Given the description of an element on the screen output the (x, y) to click on. 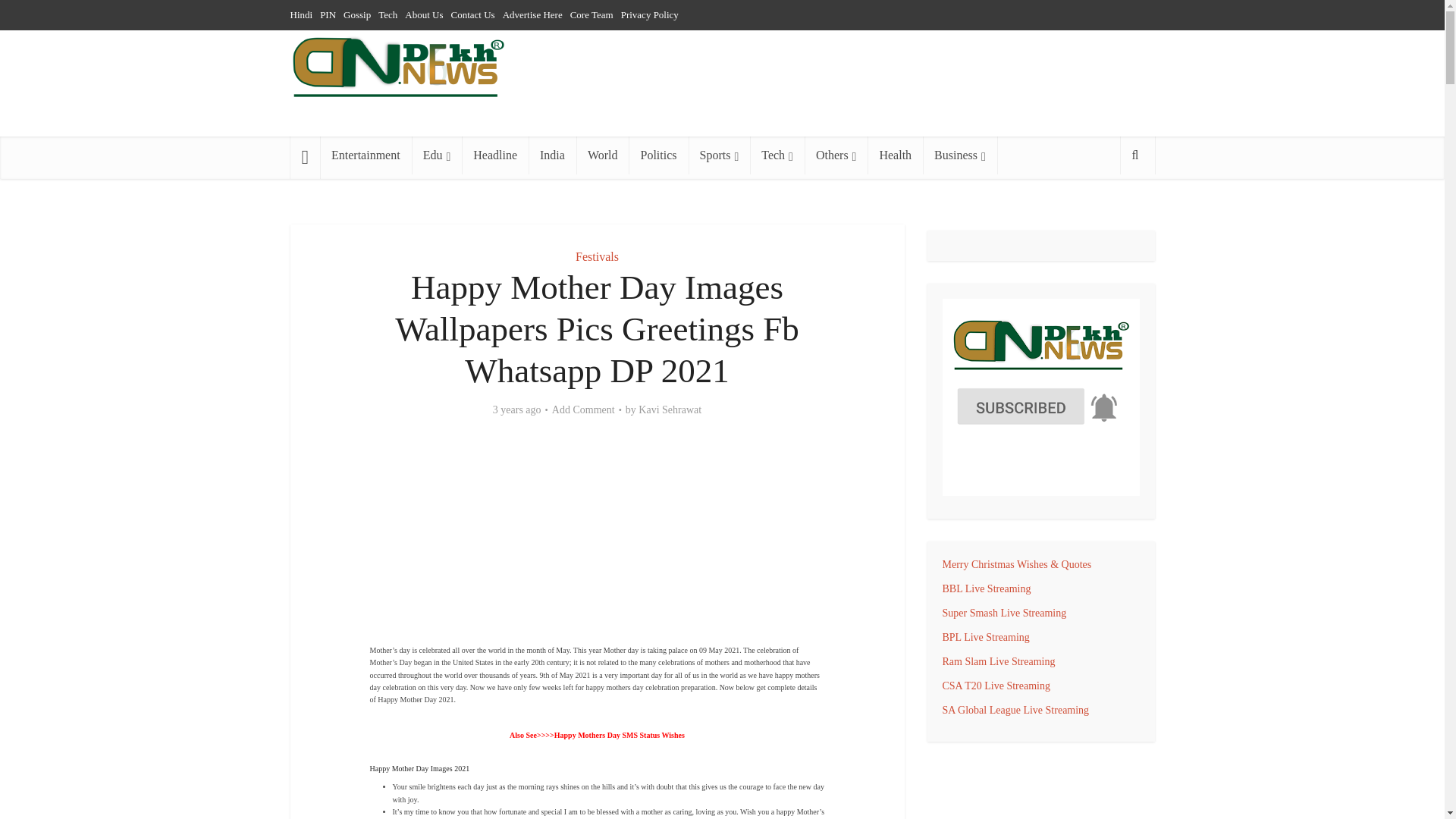
India (552, 155)
Others (836, 155)
Entertainment (366, 155)
Core Team (591, 14)
Tech (777, 155)
Hindi (301, 14)
Advertise Here (532, 14)
Gossip (357, 14)
Headline (494, 155)
Sports (719, 155)
PIN (328, 14)
Tech (387, 14)
World (602, 155)
Contact Us (472, 14)
Privacy Policy (649, 14)
